Given the description of an element on the screen output the (x, y) to click on. 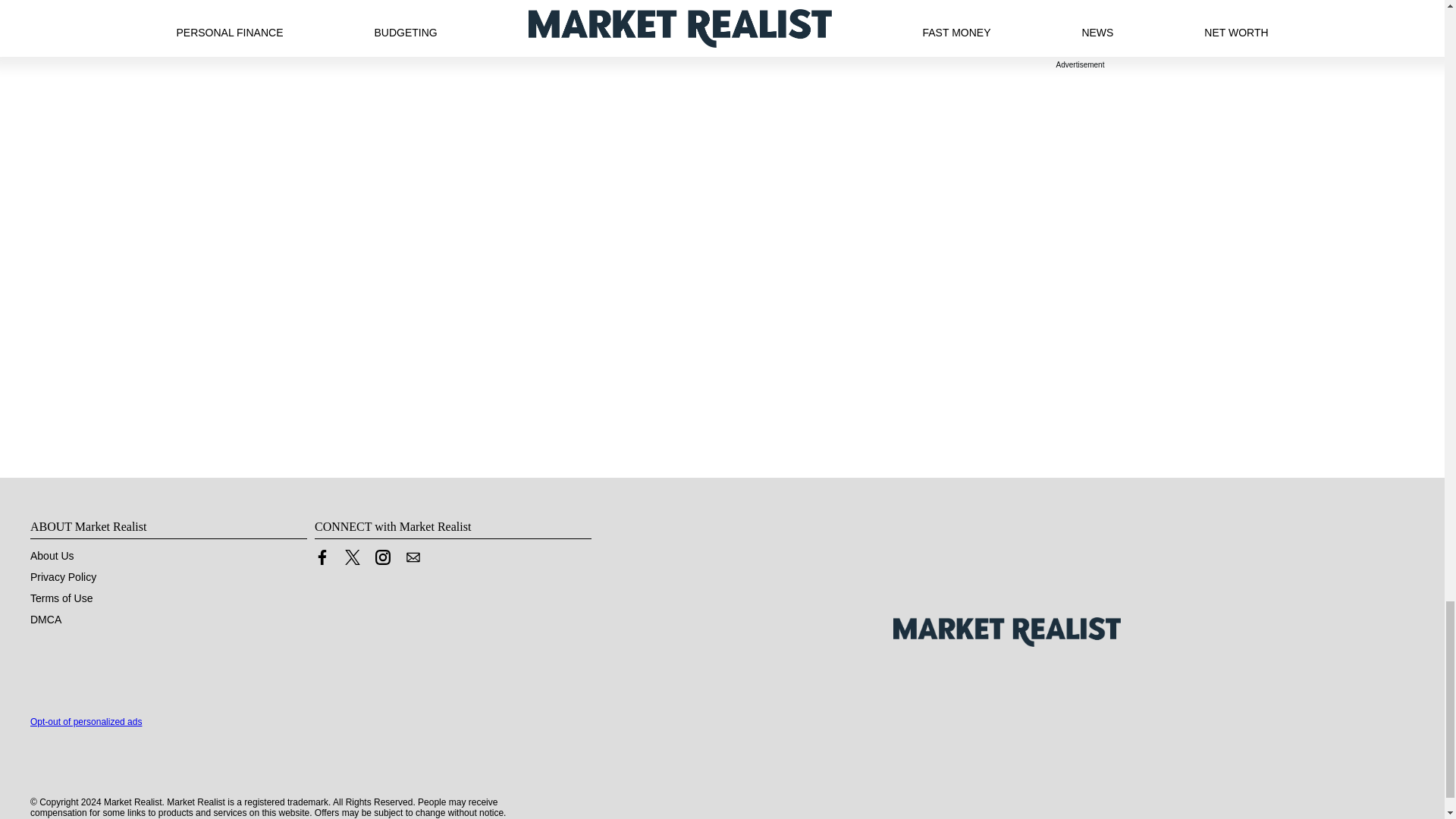
DMCA (45, 619)
Link to Facebook (322, 561)
DMCA (45, 619)
Privacy Policy (63, 576)
Link to Facebook (322, 557)
Link to Instagram (382, 557)
Contact us by Email (413, 557)
Contact us by Email (413, 561)
Terms of Use (61, 598)
Link to Instagram (382, 561)
